Given the description of an element on the screen output the (x, y) to click on. 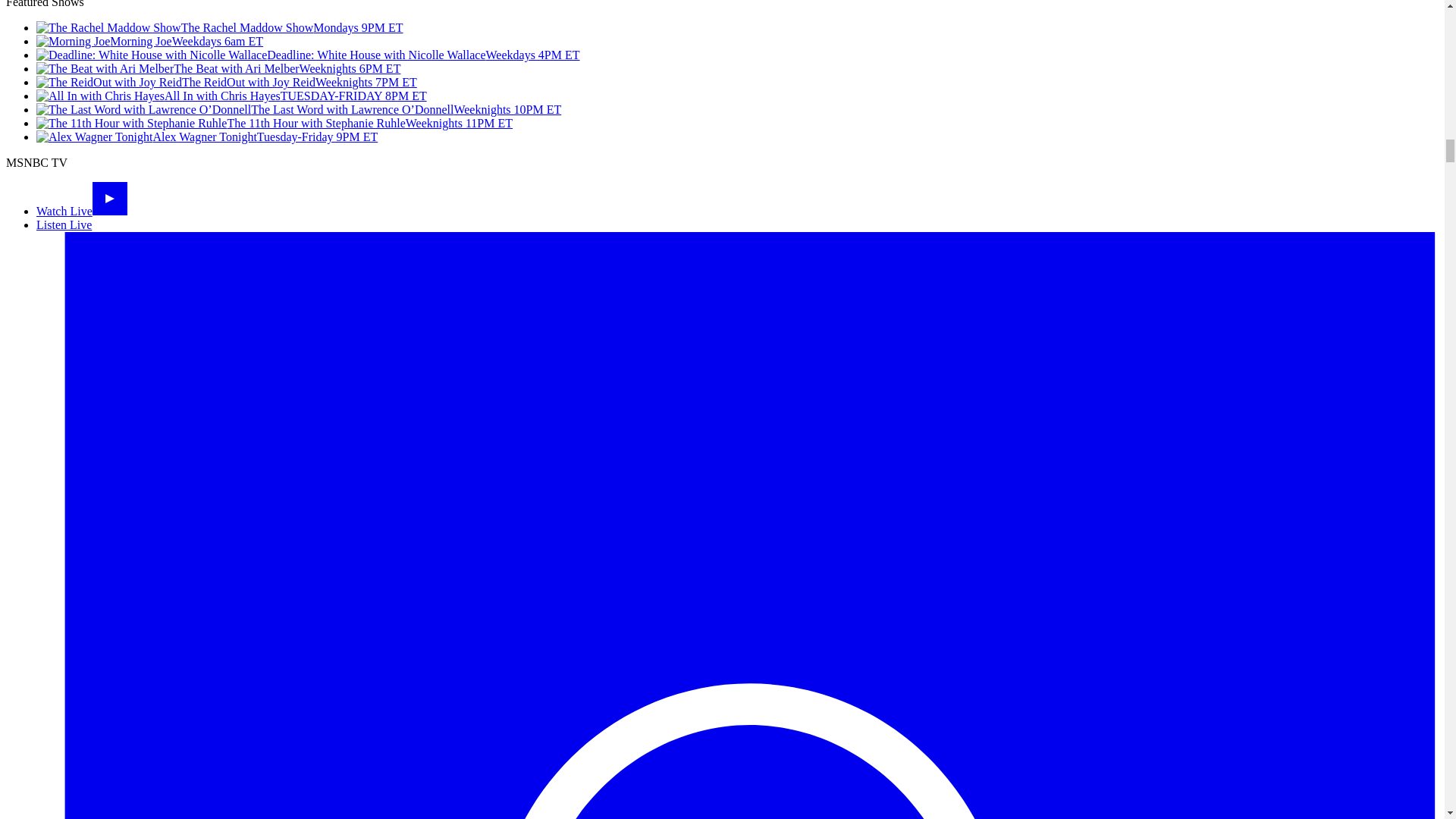
The ReidOut with Joy ReidWeeknights 7PM ET (226, 82)
The 11th Hour with Stephanie RuhleWeeknights 11PM ET (274, 123)
The Beat with Ari MelberWeeknights 6PM ET (218, 68)
Watch Live (82, 210)
All In with Chris HayesTUESDAY-FRIDAY 8PM ET (231, 95)
Alex Wagner TonightTuesday-Friday 9PM ET (206, 136)
Deadline: White House with Nicolle WallaceWeekdays 4PM ET (307, 54)
Morning JoeWeekdays 6am ET (149, 41)
The Rachel Maddow ShowMondays 9PM ET (219, 27)
